Given the description of an element on the screen output the (x, y) to click on. 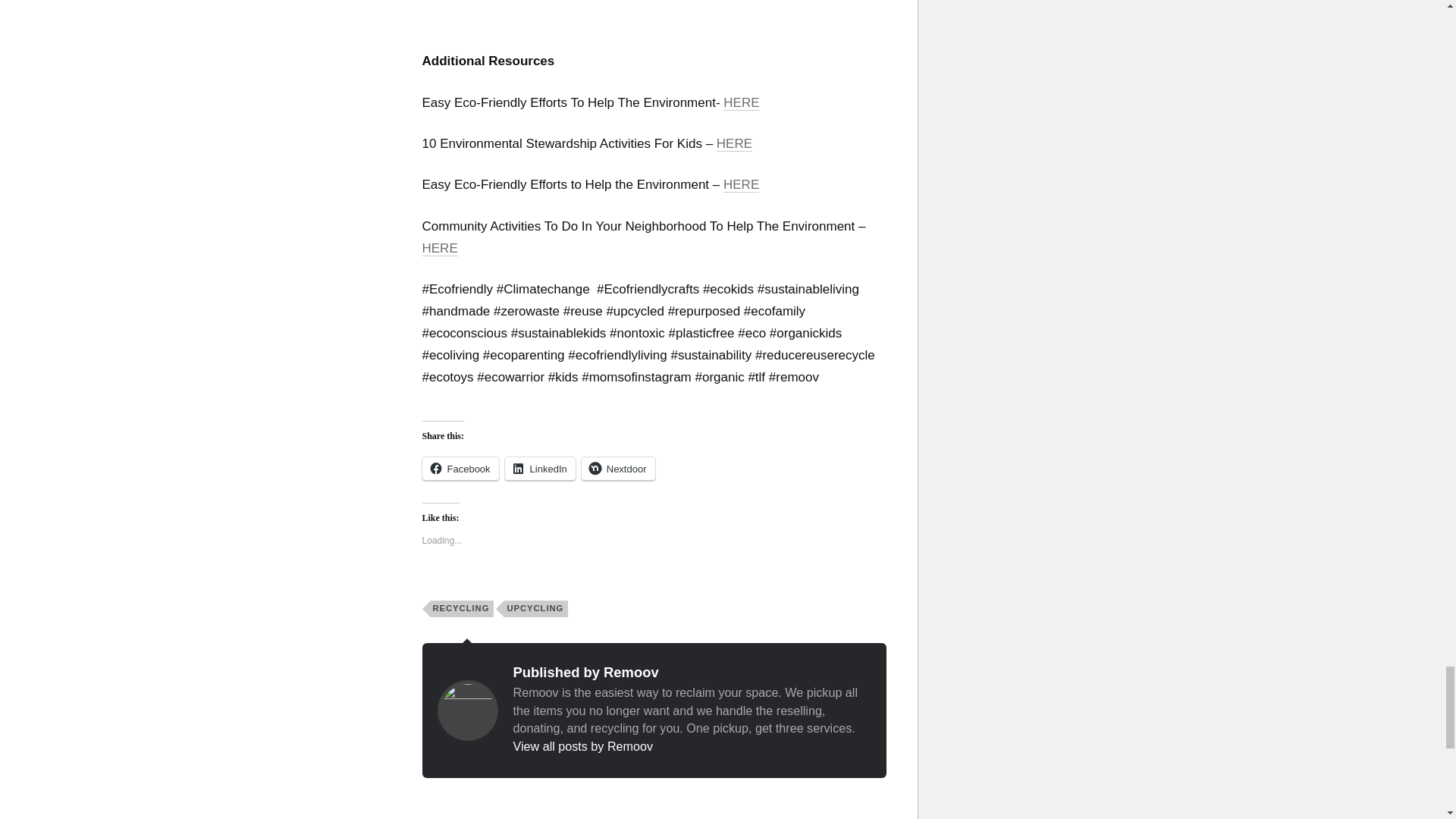
Click to share on LinkedIn (540, 468)
Click to share on Facebook (459, 468)
Click to share on Nextdoor (617, 468)
